Given the description of an element on the screen output the (x, y) to click on. 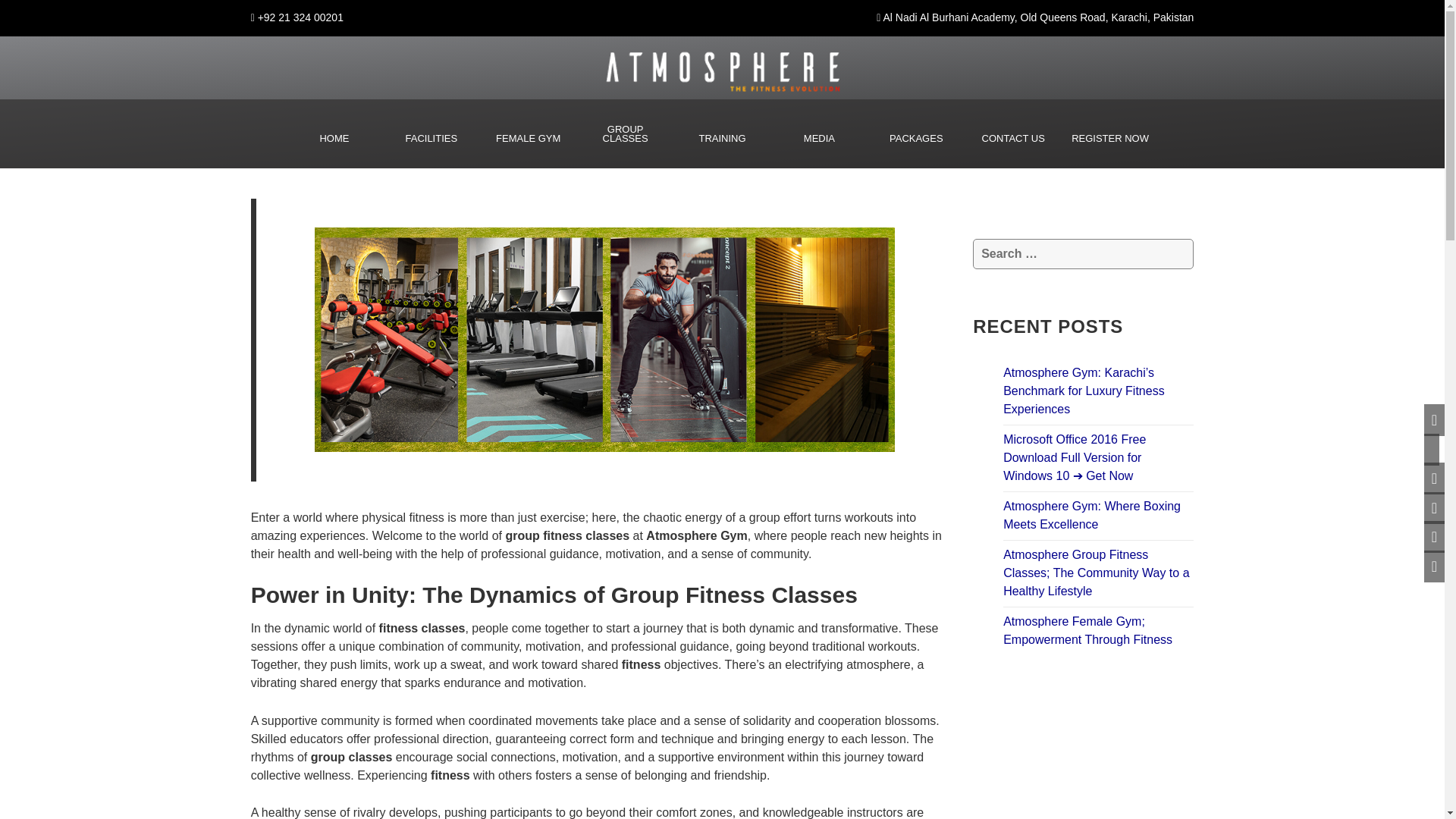
REGISTER NOW (1109, 138)
PACKAGES (916, 138)
MEDIA (818, 138)
FACILITIES (430, 138)
HOME (333, 138)
GROUP CLASSES (624, 133)
TRAINING (721, 138)
